Given the description of an element on the screen output the (x, y) to click on. 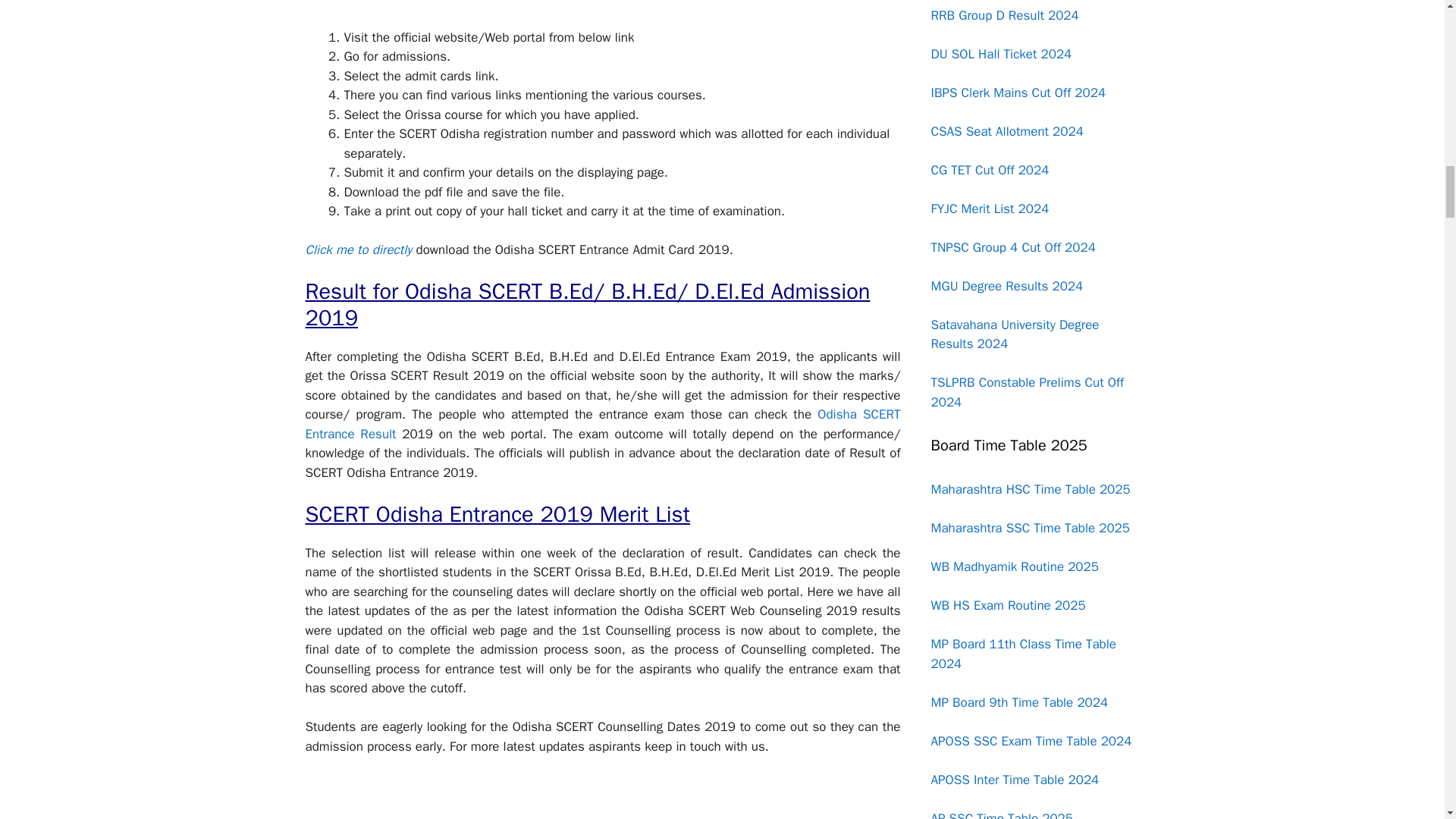
Click me to directly (358, 249)
Advertisement (601, 13)
Odisha SCERT Entrance Result (601, 424)
Advertisement (601, 797)
